Given the description of an element on the screen output the (x, y) to click on. 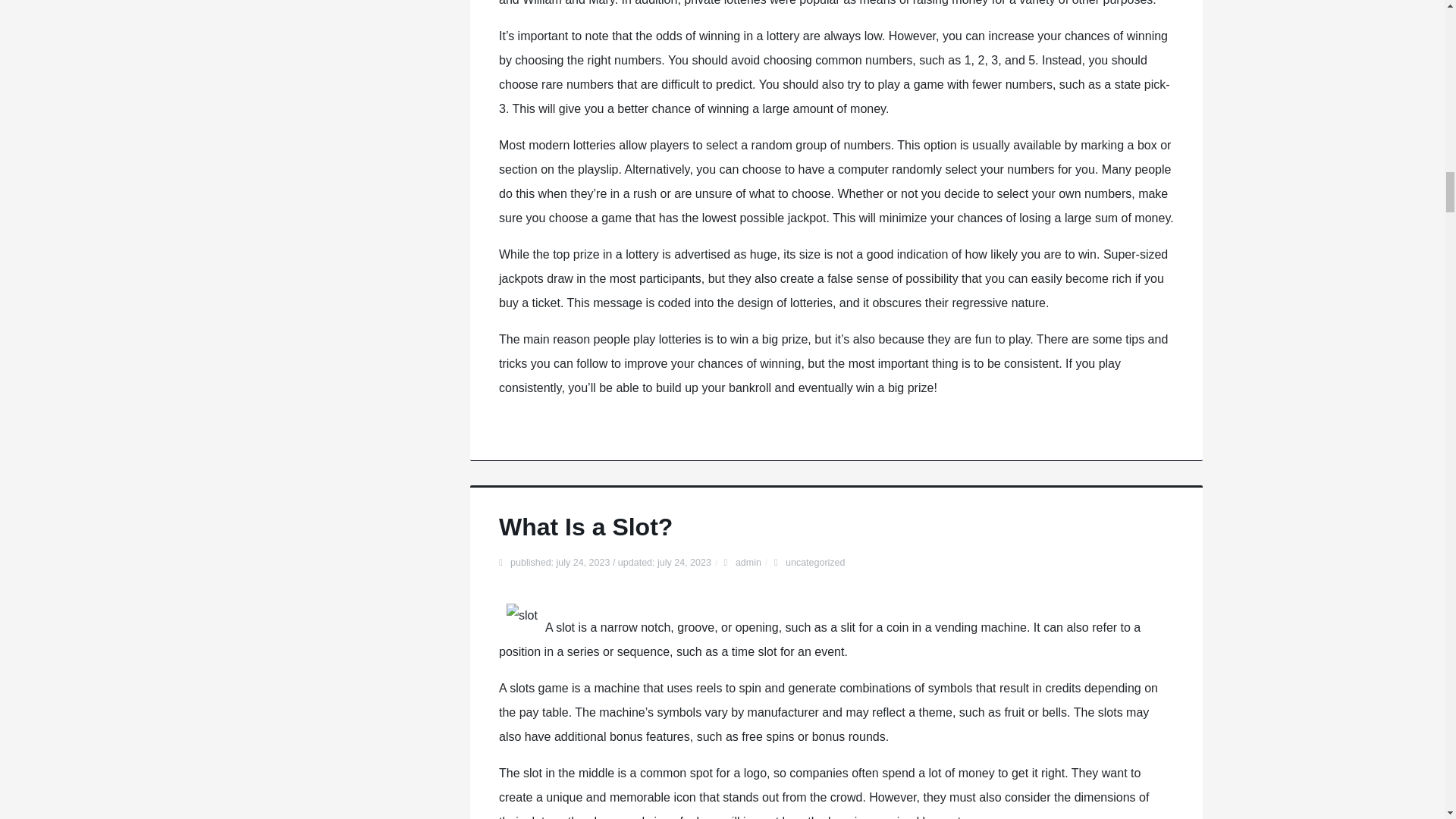
What Is a Slot? (585, 526)
admin (748, 562)
uncategorized (815, 562)
